Given the description of an element on the screen output the (x, y) to click on. 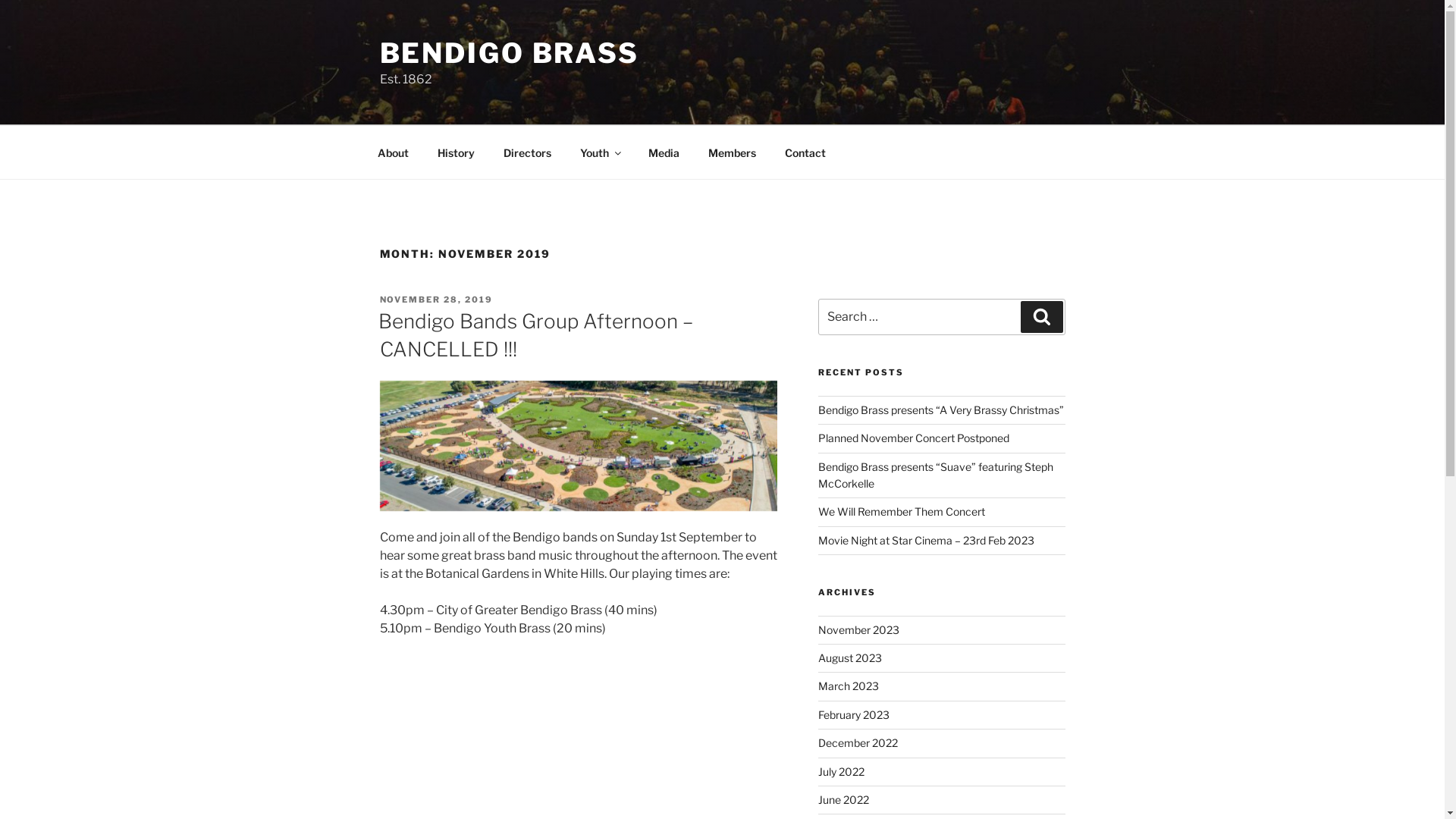
July 2022 Element type: text (841, 771)
Members Element type: text (731, 151)
We Will Remember Them Concert Element type: text (901, 511)
June 2022 Element type: text (843, 799)
Youth Element type: text (600, 151)
December 2022 Element type: text (857, 742)
NOVEMBER 28, 2019 Element type: text (435, 299)
November 2023 Element type: text (858, 629)
Media Element type: text (664, 151)
About Element type: text (392, 151)
Contact Element type: text (805, 151)
August 2023 Element type: text (849, 657)
Directors Element type: text (526, 151)
March 2023 Element type: text (848, 685)
February 2023 Element type: text (853, 714)
Search Element type: text (1041, 316)
History Element type: text (456, 151)
BENDIGO BRASS Element type: text (508, 52)
Planned November Concert Postponed Element type: text (913, 437)
